Given the description of an element on the screen output the (x, y) to click on. 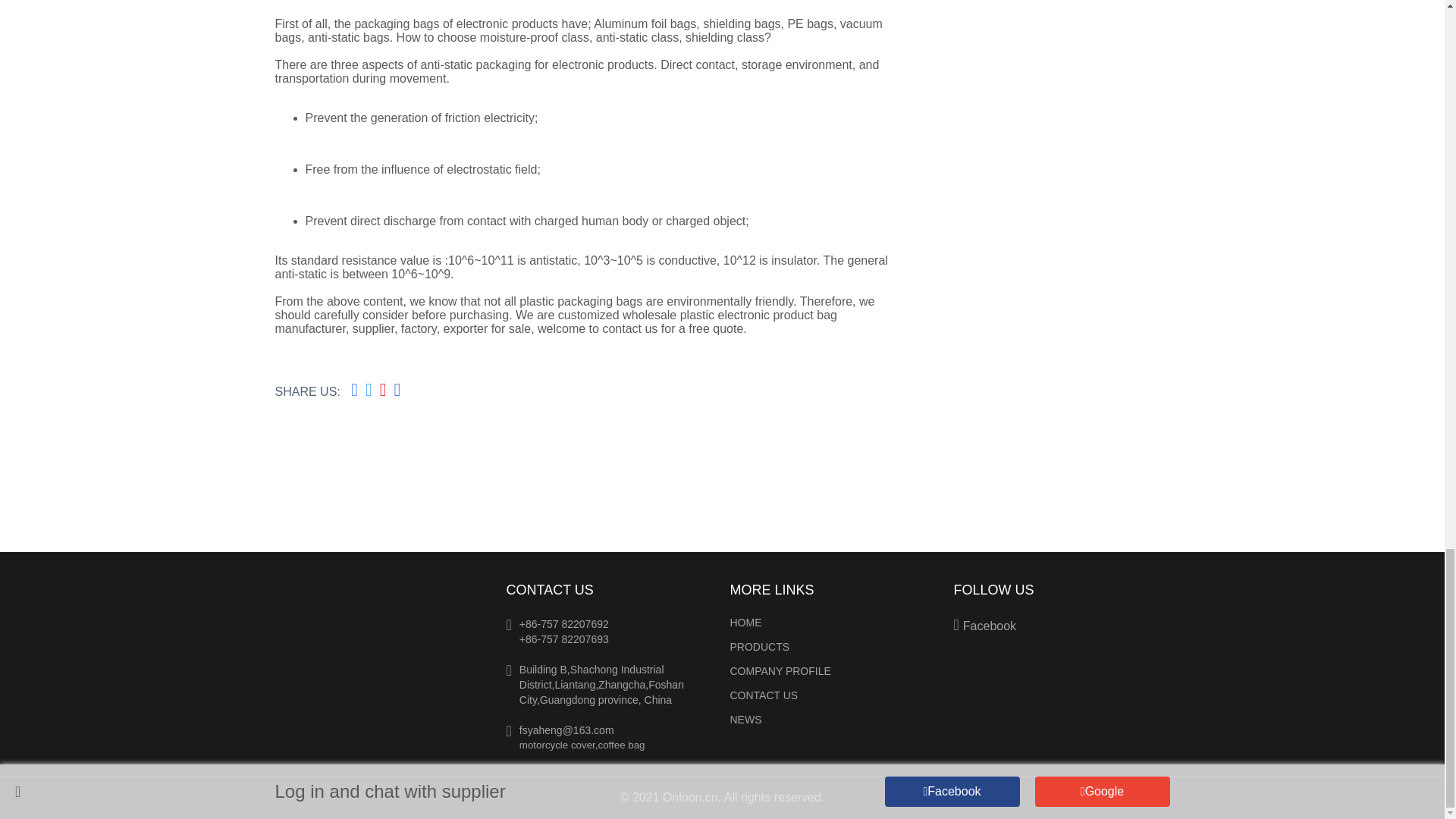
Facebook (1057, 624)
COMPANY PROFILE (833, 671)
HOME (833, 622)
PRODUCTS (833, 646)
NEWS (833, 719)
CONTACT US (833, 695)
contact us (630, 328)
